Given the description of an element on the screen output the (x, y) to click on. 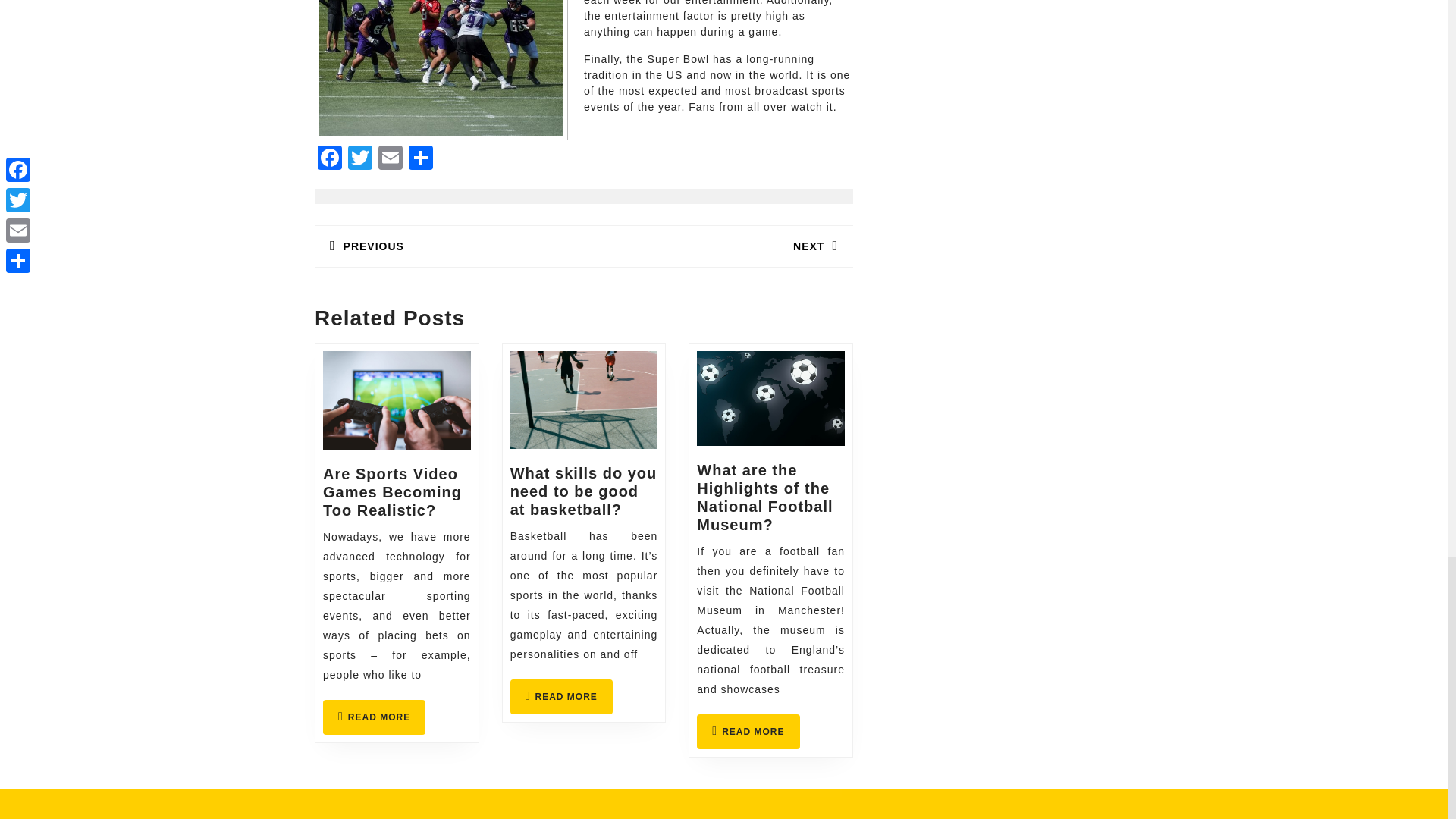
Facebook (329, 159)
Twitter (374, 717)
Email (561, 696)
Twitter (748, 731)
Facebook (360, 159)
